Given the description of an element on the screen output the (x, y) to click on. 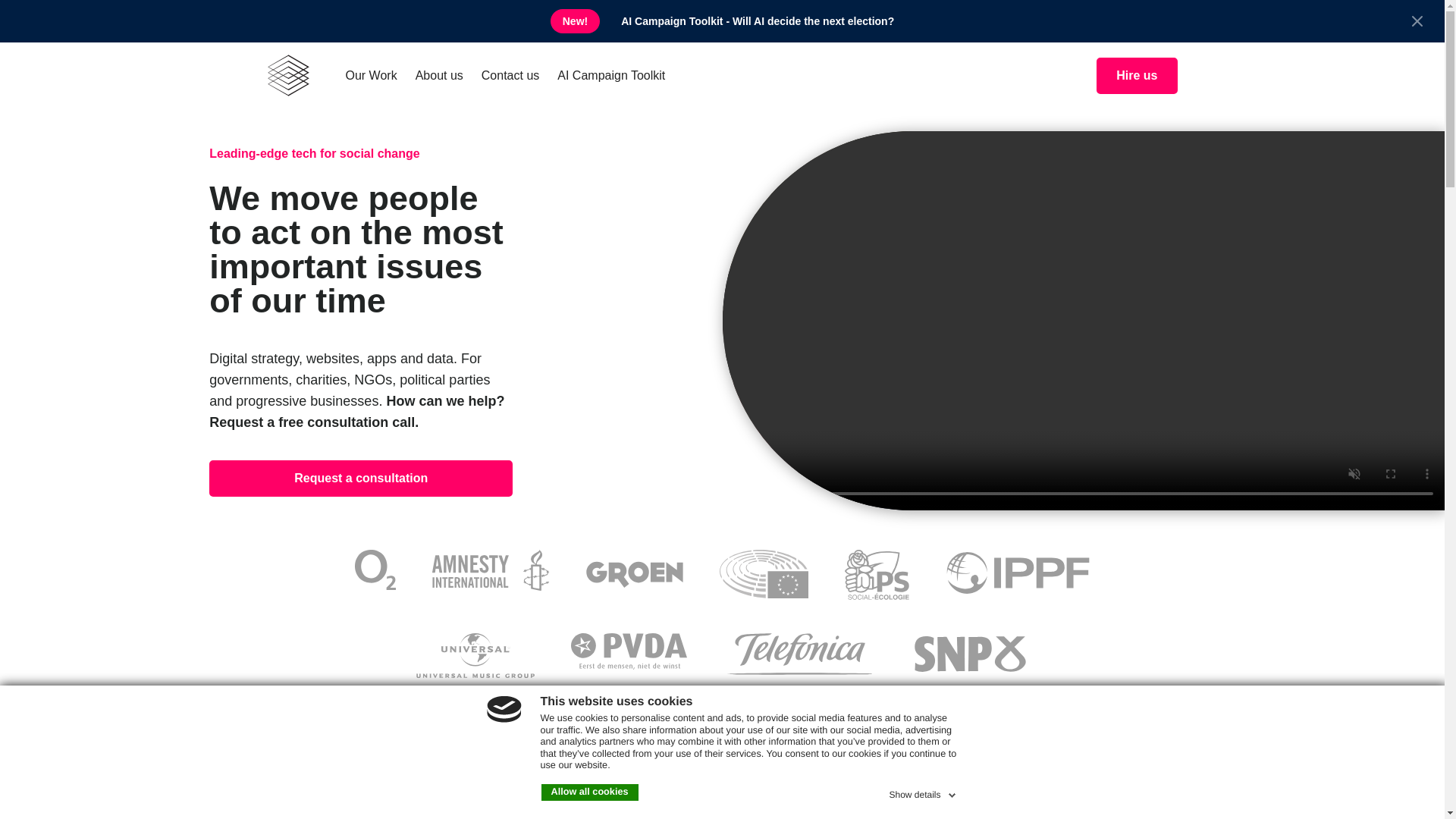
Show details (923, 791)
Allow all cookies (590, 791)
